Given the description of an element on the screen output the (x, y) to click on. 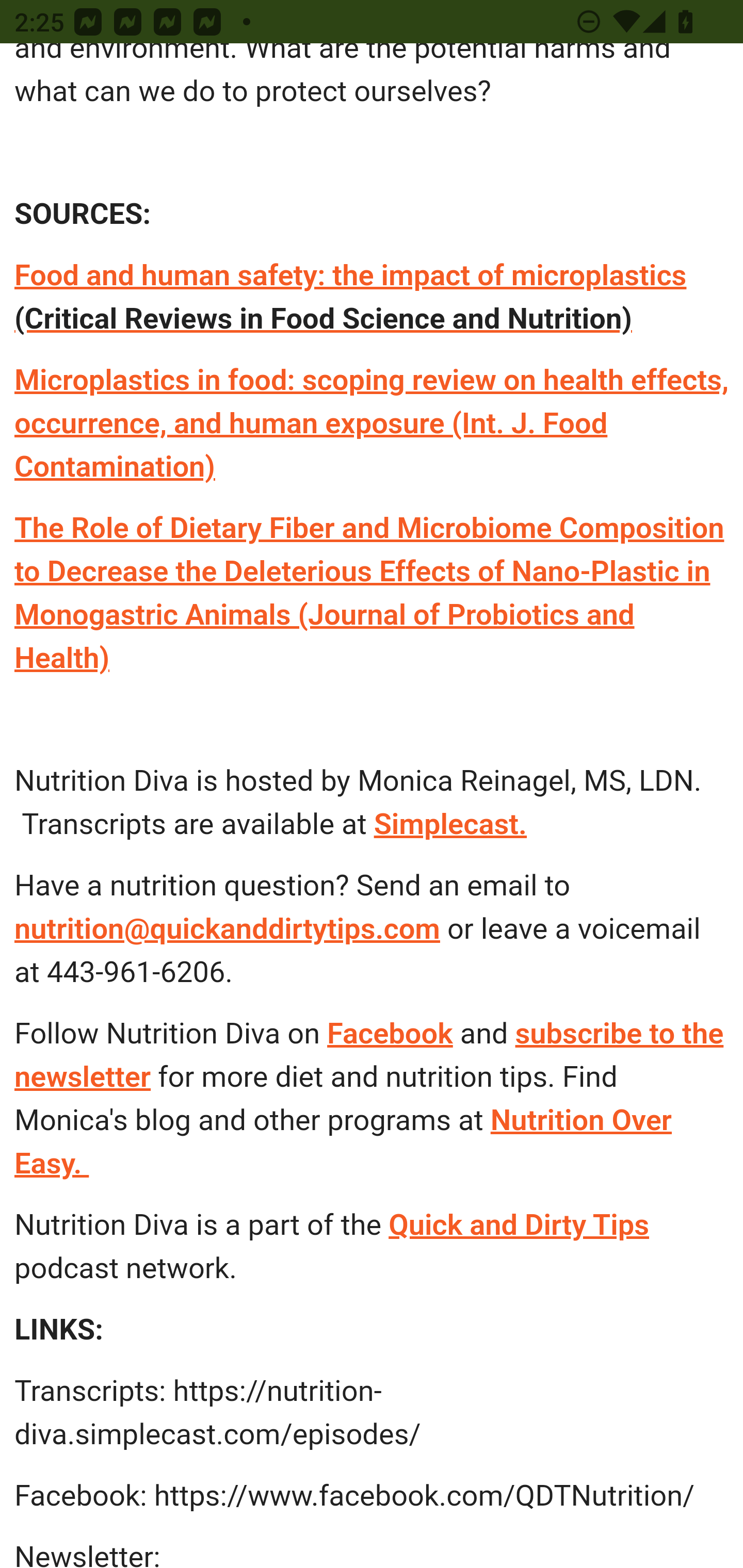
Food and human safety: the impact of microplastics (351, 275)
 (Critical Reviews in Food Science and Nutrition) (323, 319)
Simplecast. (449, 823)
nutrition@quickanddirtytips.com (227, 929)
subscribe to the newsletter (368, 1055)
Facebook (389, 1034)
Nutrition Over Easy.  (343, 1142)
Quick and Dirty Tips (518, 1225)
